Given the description of an element on the screen output the (x, y) to click on. 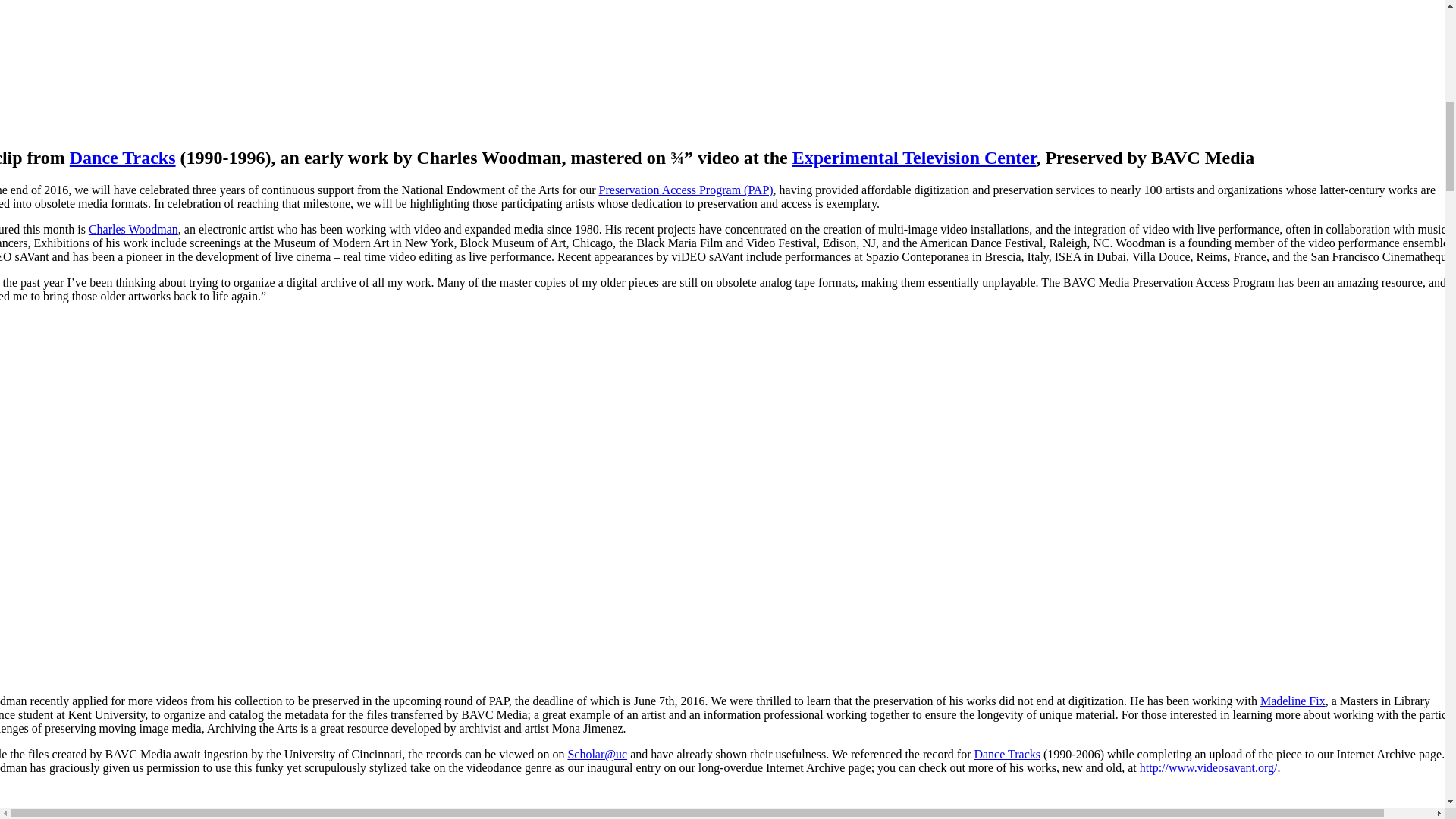
Charles Woodman (132, 228)
Madeline Fix (1292, 700)
Screen-Shot-2016-05-27-at-11.14.55-AM (224, 64)
Dance Tracks (122, 157)
Experimental Television Center (914, 157)
Dance Tracks (1007, 753)
